Given the description of an element on the screen output the (x, y) to click on. 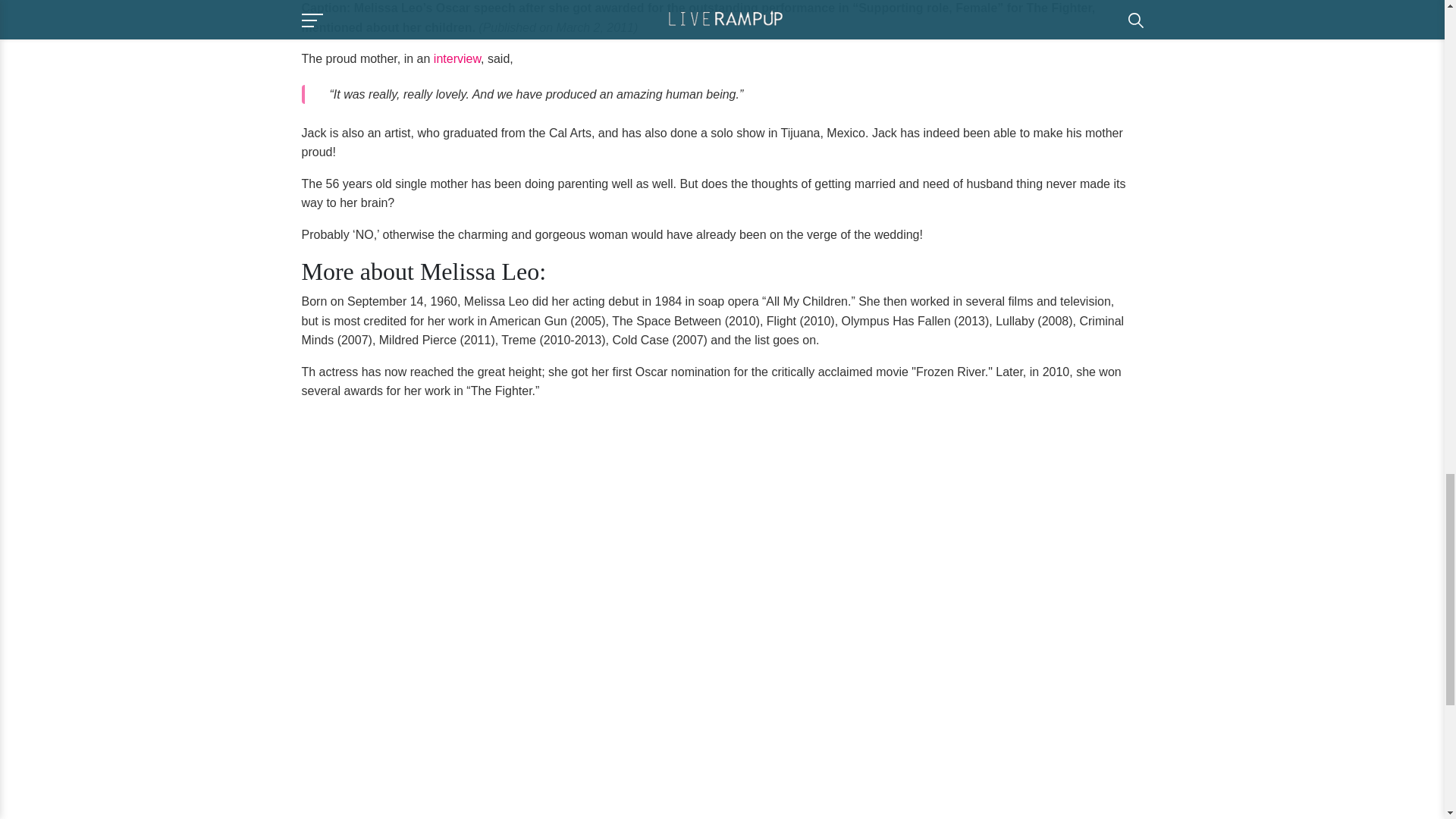
interview (456, 58)
